Given the description of an element on the screen output the (x, y) to click on. 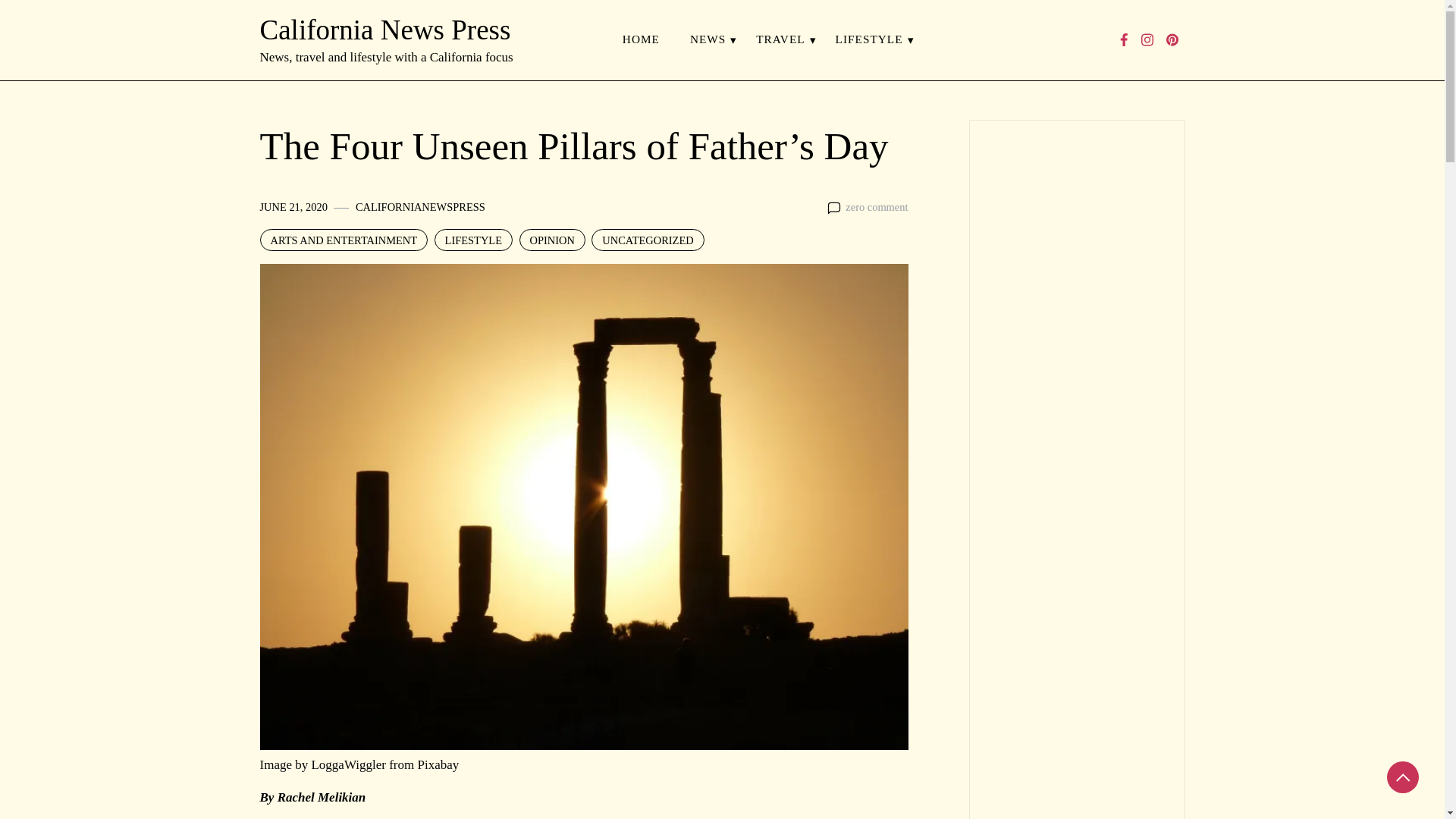
TRAVEL (780, 39)
HOME (641, 39)
California News Press (385, 29)
NEWS (708, 39)
